Given the description of an element on the screen output the (x, y) to click on. 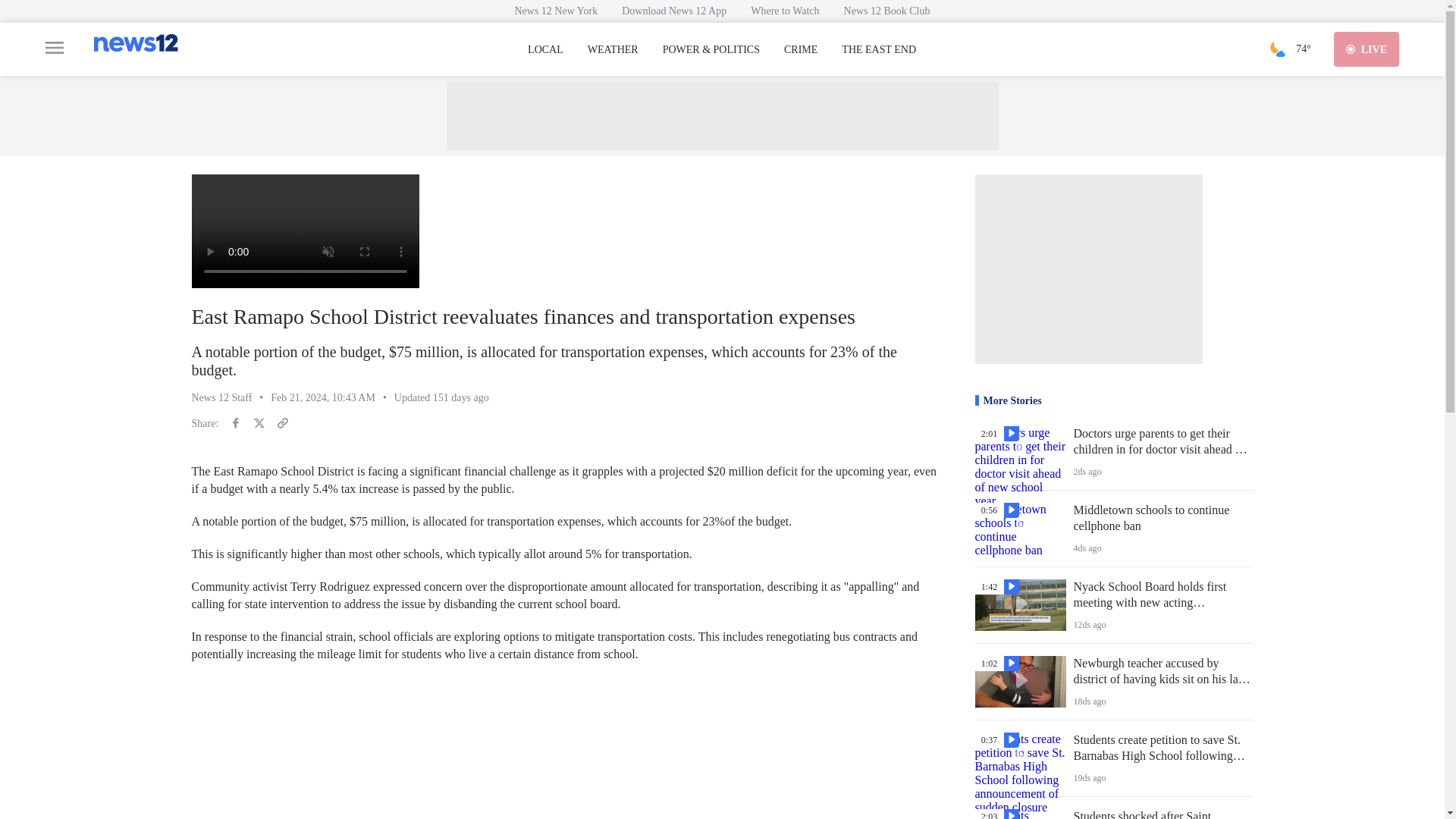
CRIME (800, 49)
Download News 12 App (673, 11)
Fair or Mostly Clear (1277, 48)
Where to Watch (784, 11)
WEATHER (613, 49)
LIVE (1366, 48)
LOCAL (545, 49)
THE EAST END (878, 49)
News 12 Book Club (886, 11)
News 12 New York (556, 11)
